Given the description of an element on the screen output the (x, y) to click on. 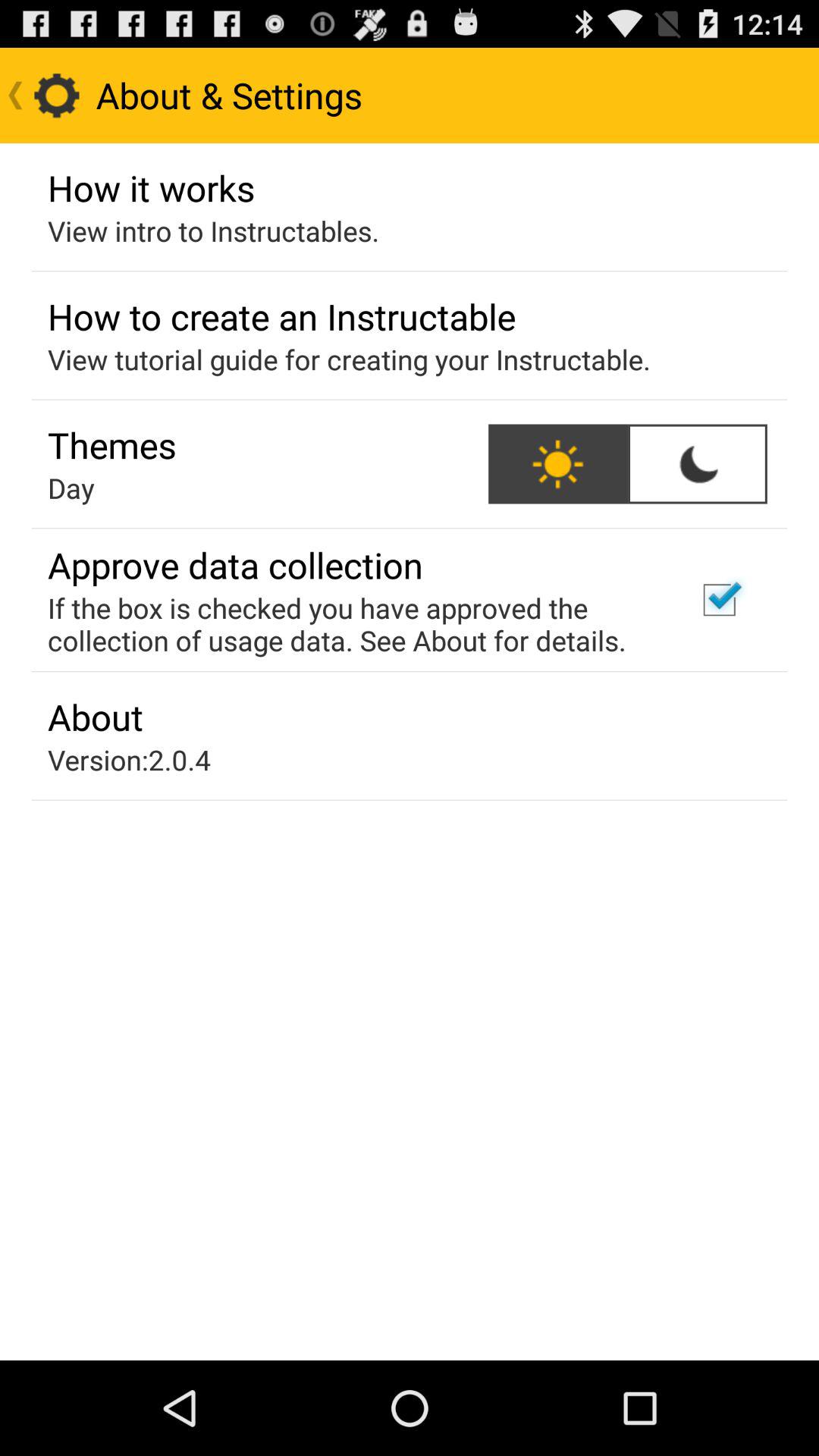
scroll until the if the box item (351, 624)
